Given the description of an element on the screen output the (x, y) to click on. 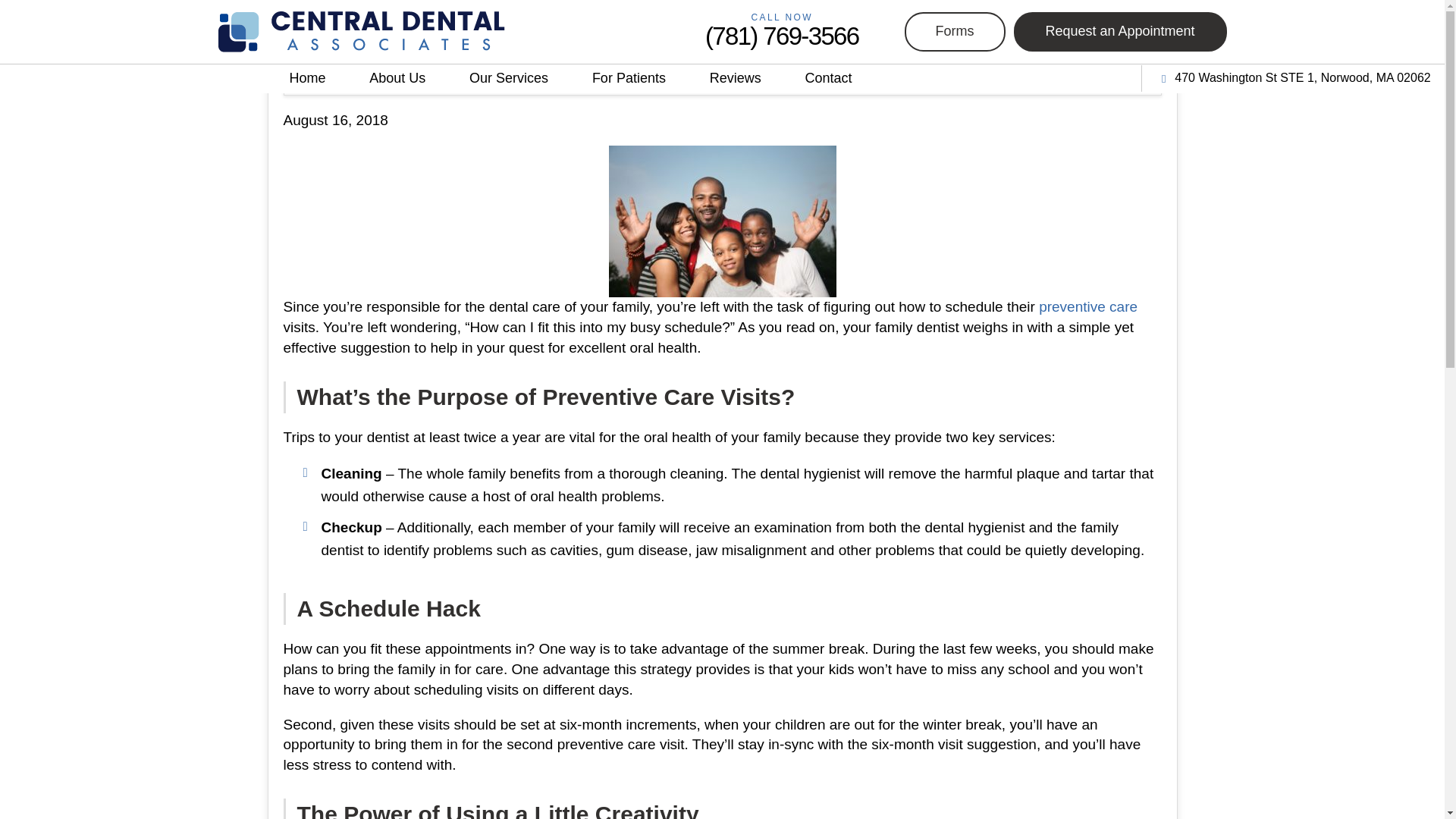
Request an Appointment (1119, 31)
Our Services (508, 78)
preventive care (1088, 306)
Contact (829, 78)
About Us (396, 78)
Home (306, 78)
Reviews (735, 78)
470 Washington St STE 1, Norwood, MA 02062 (1292, 77)
For Patients (628, 78)
Forms (954, 31)
